Given the description of an element on the screen output the (x, y) to click on. 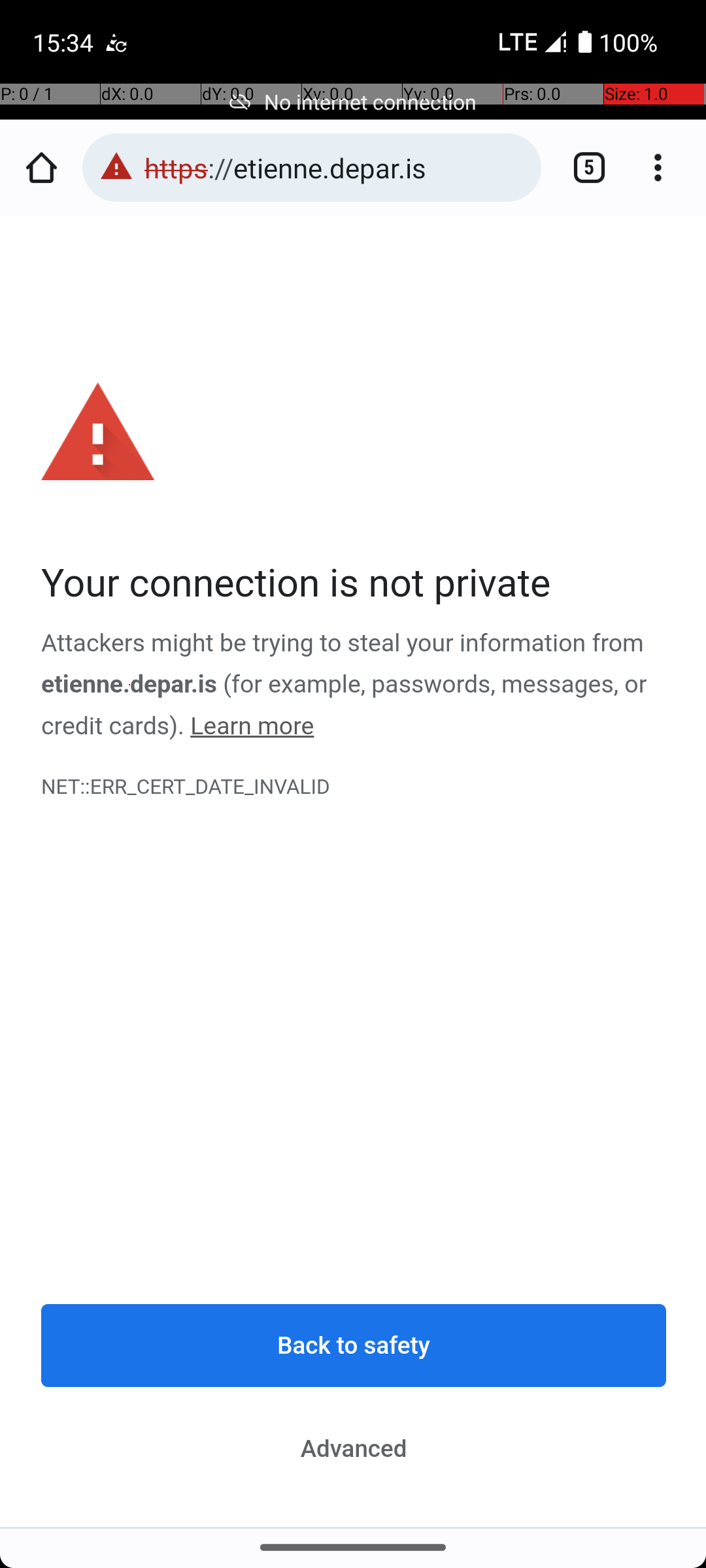
https://etienne.depar.is Element type: android.widget.EditText (335, 167)
etienne.depar.is Element type: android.widget.TextView (129, 684)
